Given the description of an element on the screen output the (x, y) to click on. 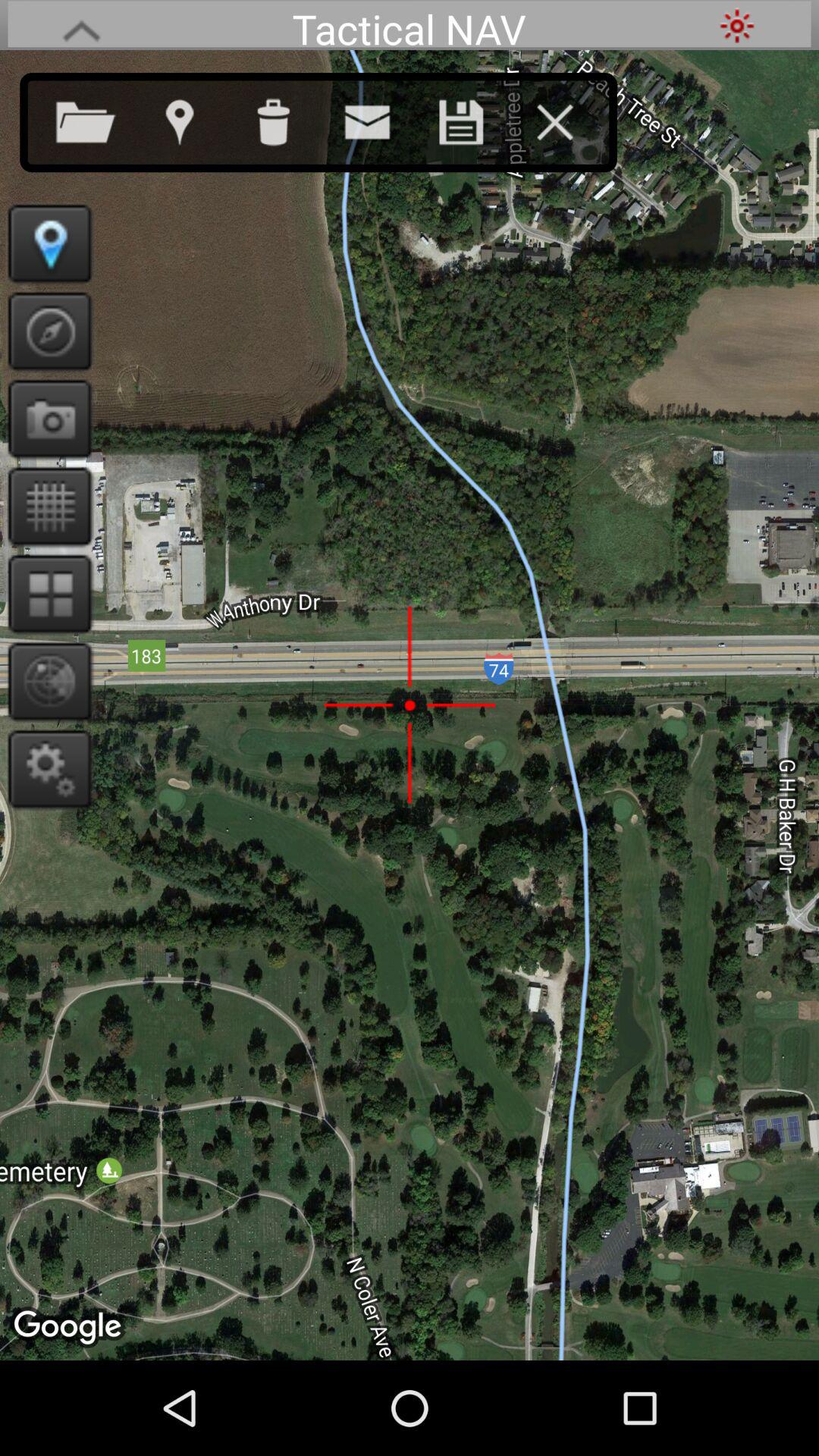
enter location (194, 119)
